Given the description of an element on the screen output the (x, y) to click on. 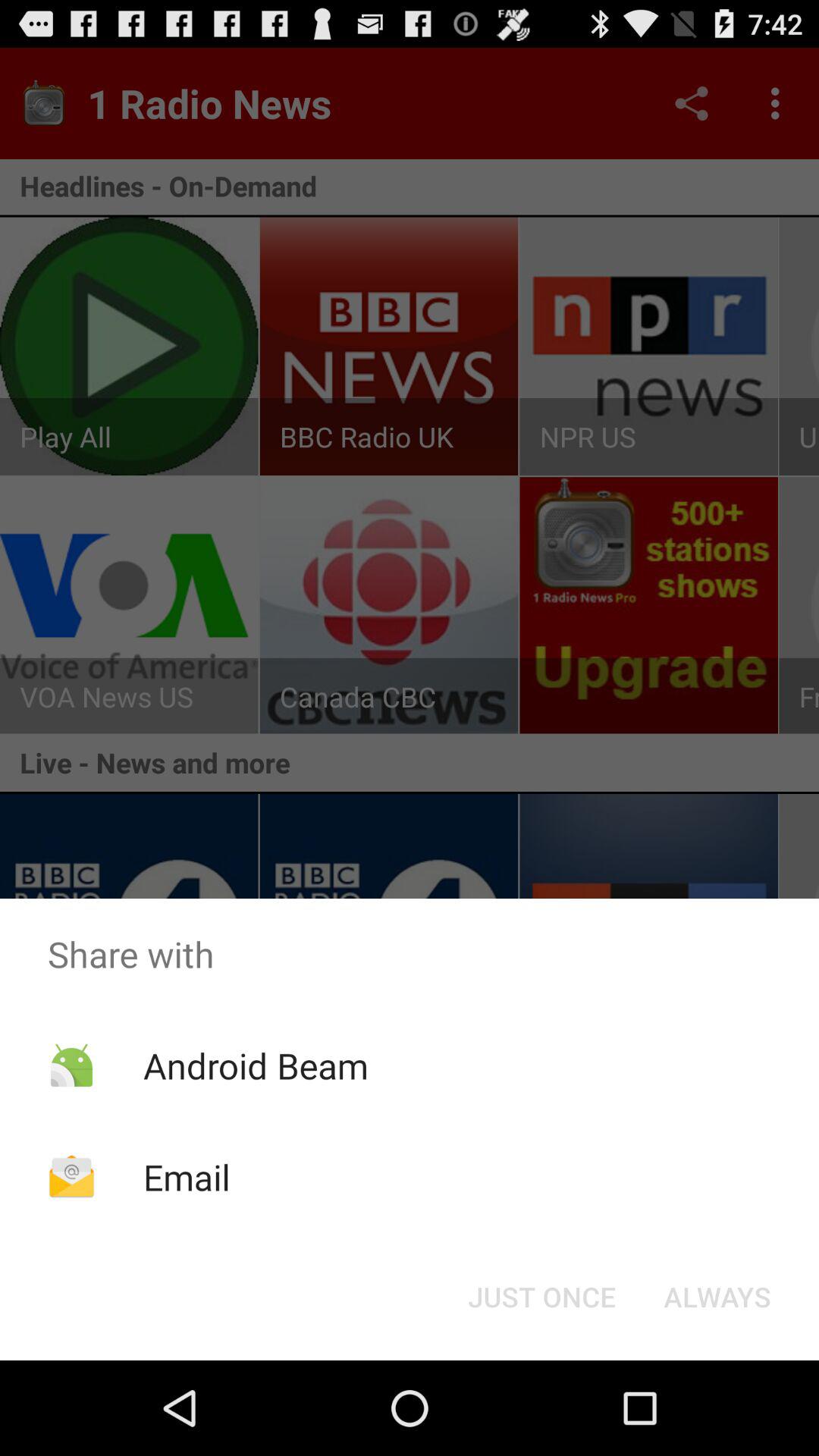
click the always (717, 1296)
